Given the description of an element on the screen output the (x, y) to click on. 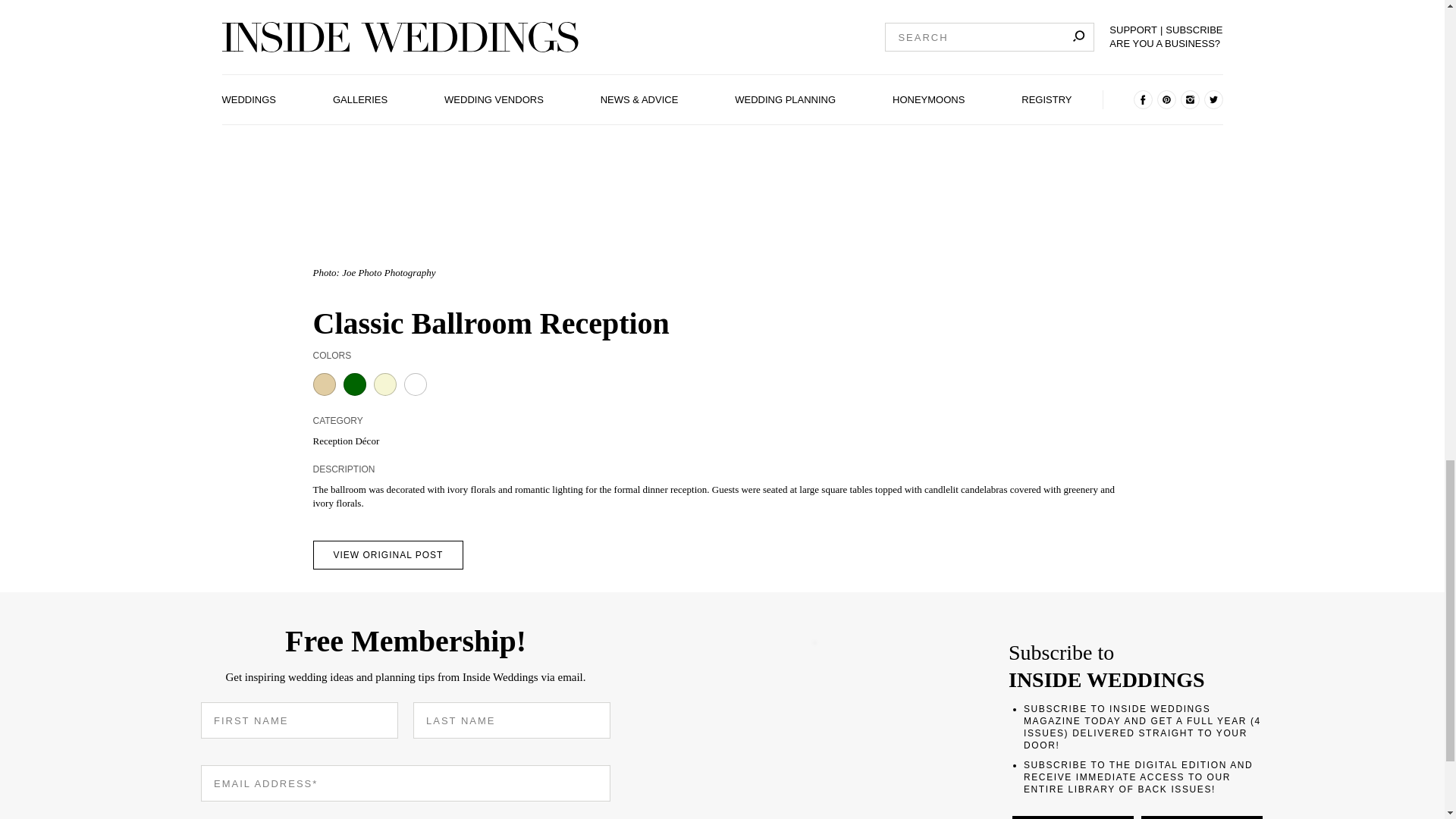
Whites (414, 384)
Greens (353, 384)
